Given the description of an element on the screen output the (x, y) to click on. 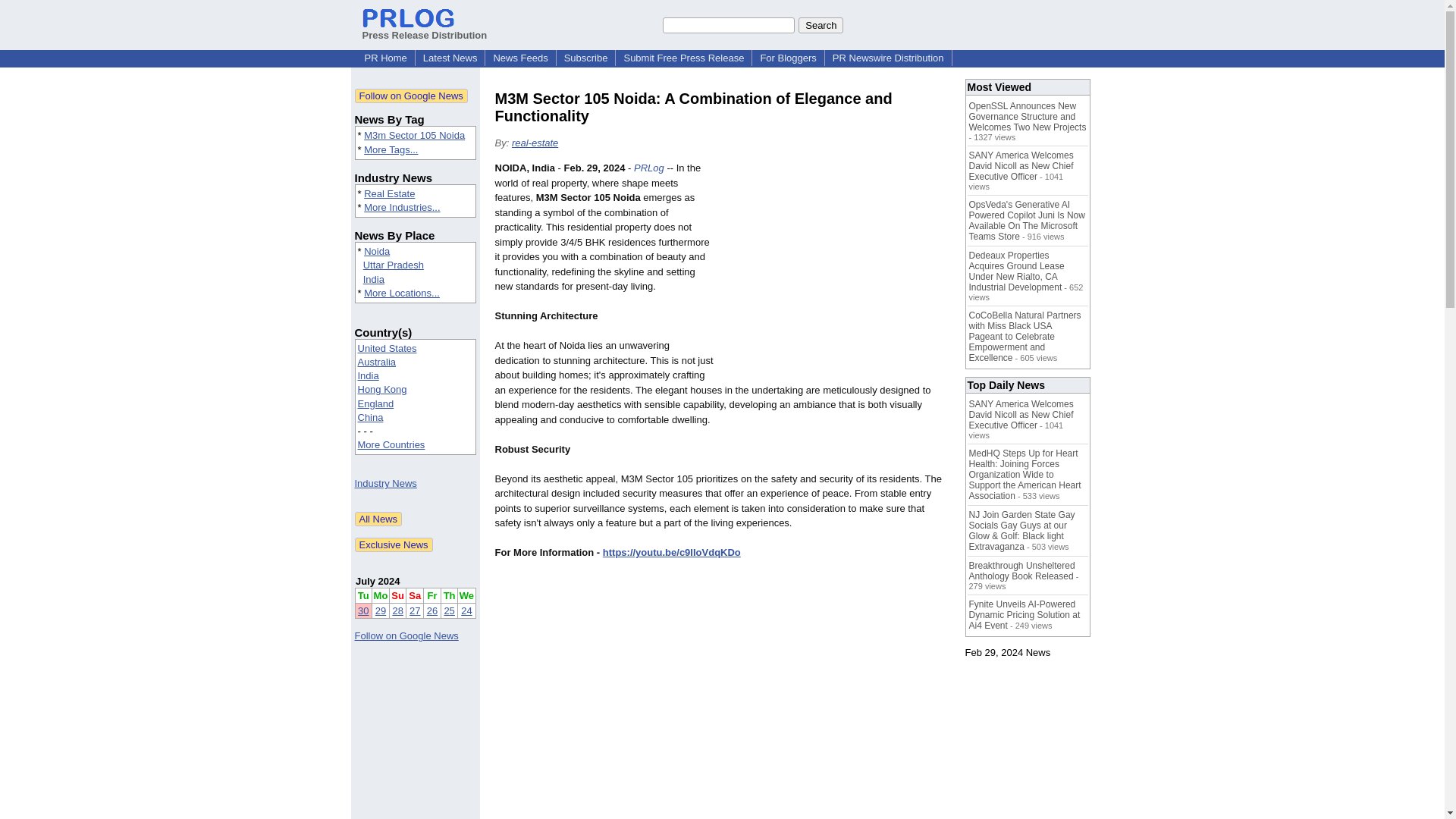
30 (363, 610)
25 (449, 610)
24 (466, 610)
Latest News (449, 57)
Exclusive News (393, 544)
Search (820, 24)
Press Release Distribution (424, 29)
Search (820, 24)
Uttar Pradesh (392, 265)
England (376, 403)
United States (387, 348)
26 (432, 610)
India (368, 375)
More Industries... (401, 206)
More Countries (391, 444)
